Given the description of an element on the screen output the (x, y) to click on. 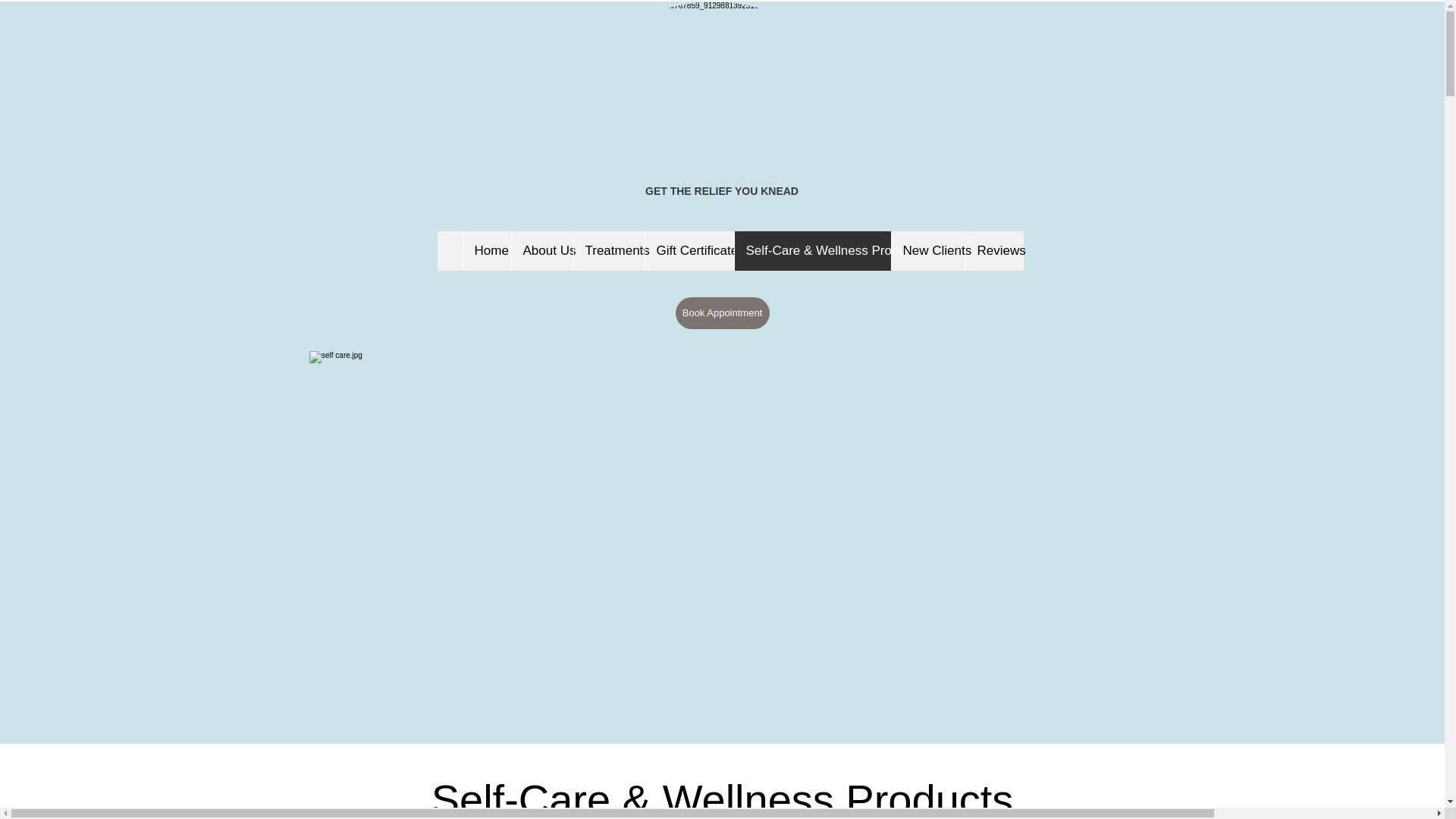
Treatments (609, 250)
Home (487, 250)
About Us (542, 250)
Reviews (993, 250)
Book Appointment (721, 313)
New Clients (926, 250)
Gift Certificates (689, 250)
